Given the description of an element on the screen output the (x, y) to click on. 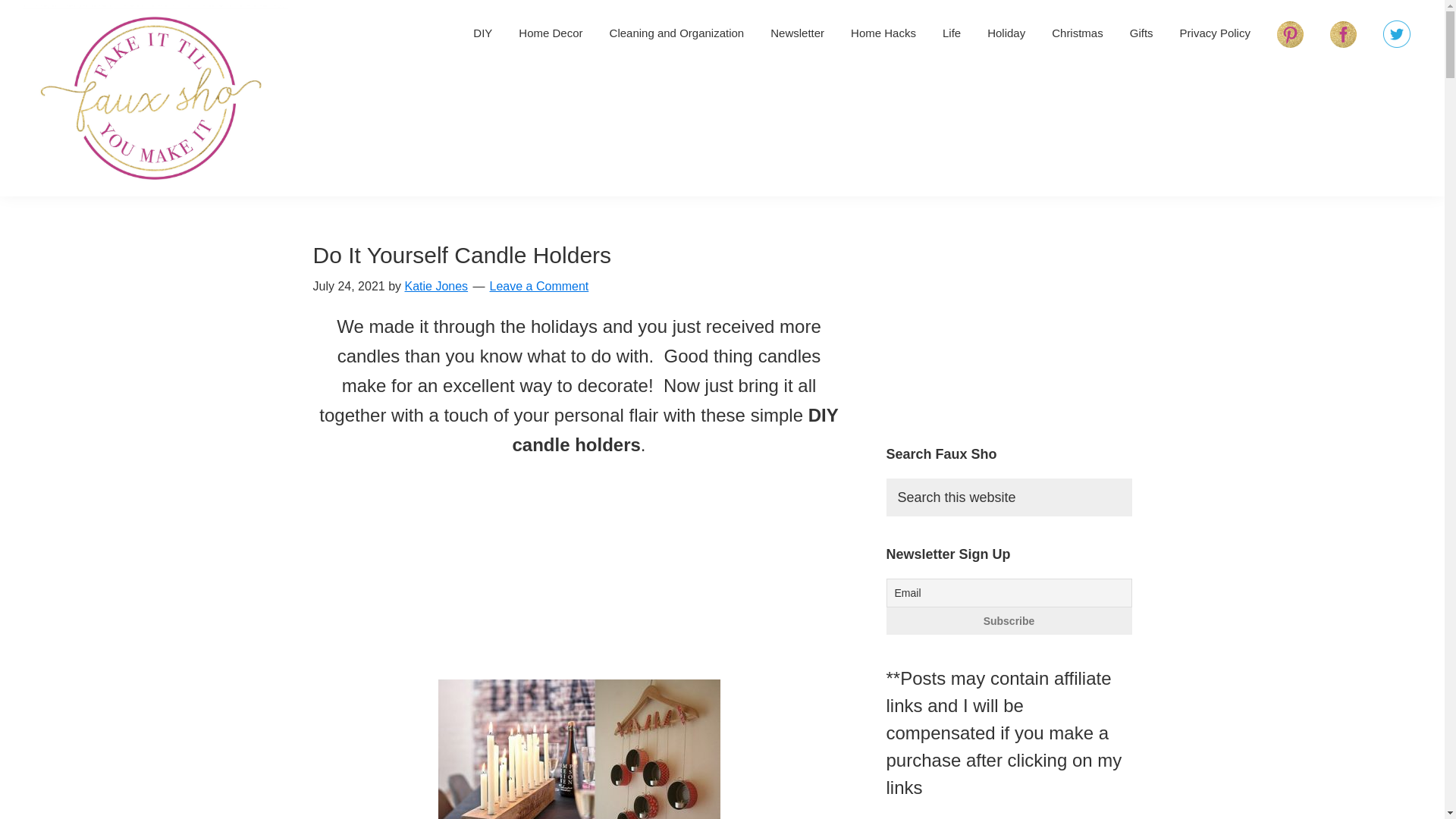
Holiday (1005, 32)
Home Decor (550, 32)
Newsletter (796, 32)
Katie Jones (435, 286)
Subscribe (1008, 620)
Home Hacks (883, 32)
Life (951, 32)
DIY (482, 32)
